Given the description of an element on the screen output the (x, y) to click on. 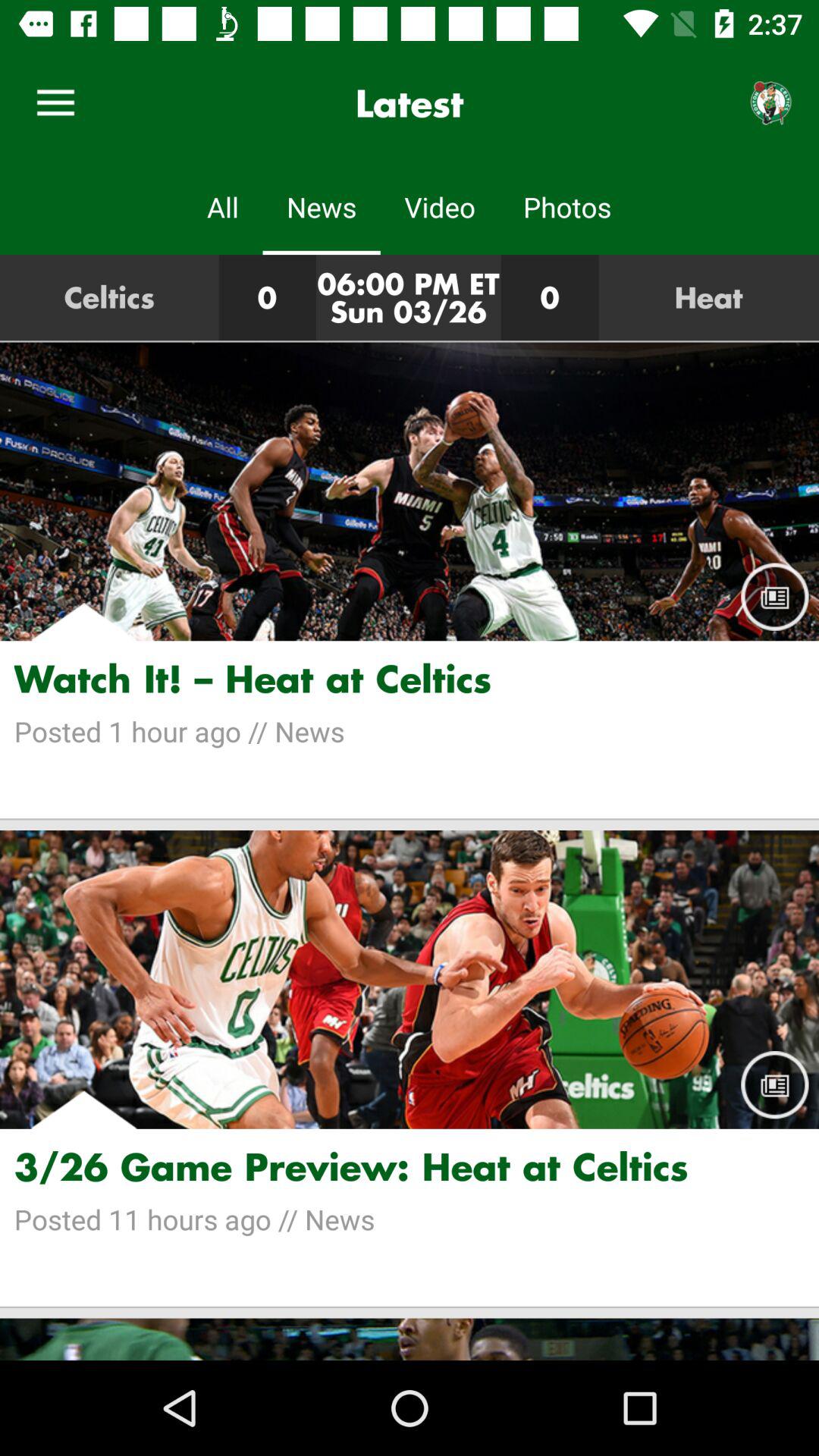
press the item below the watch it heat (409, 731)
